Given the description of an element on the screen output the (x, y) to click on. 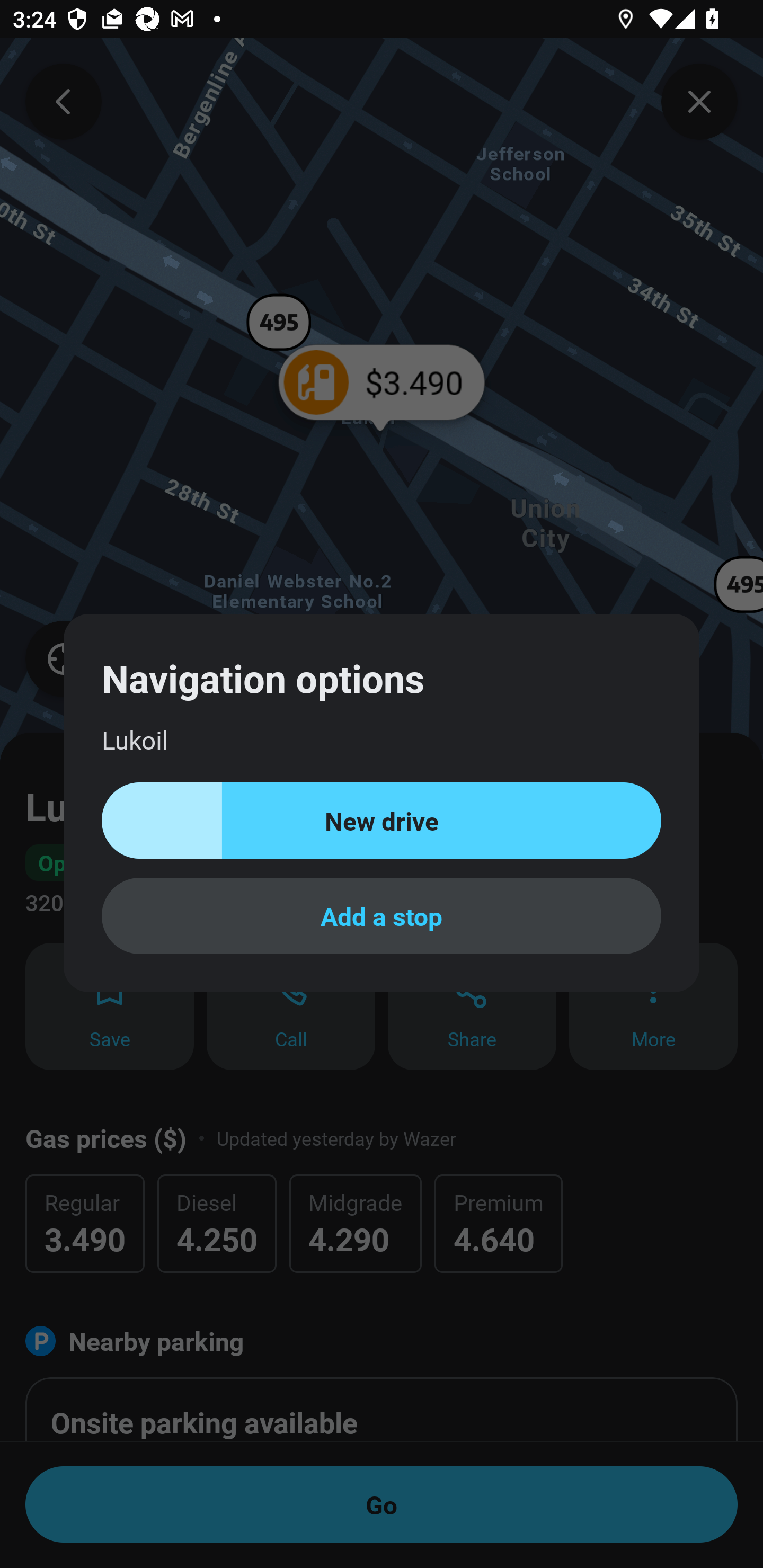
0.2132 New drive (381, 820)
Add a stop (381, 915)
